Given the description of an element on the screen output the (x, y) to click on. 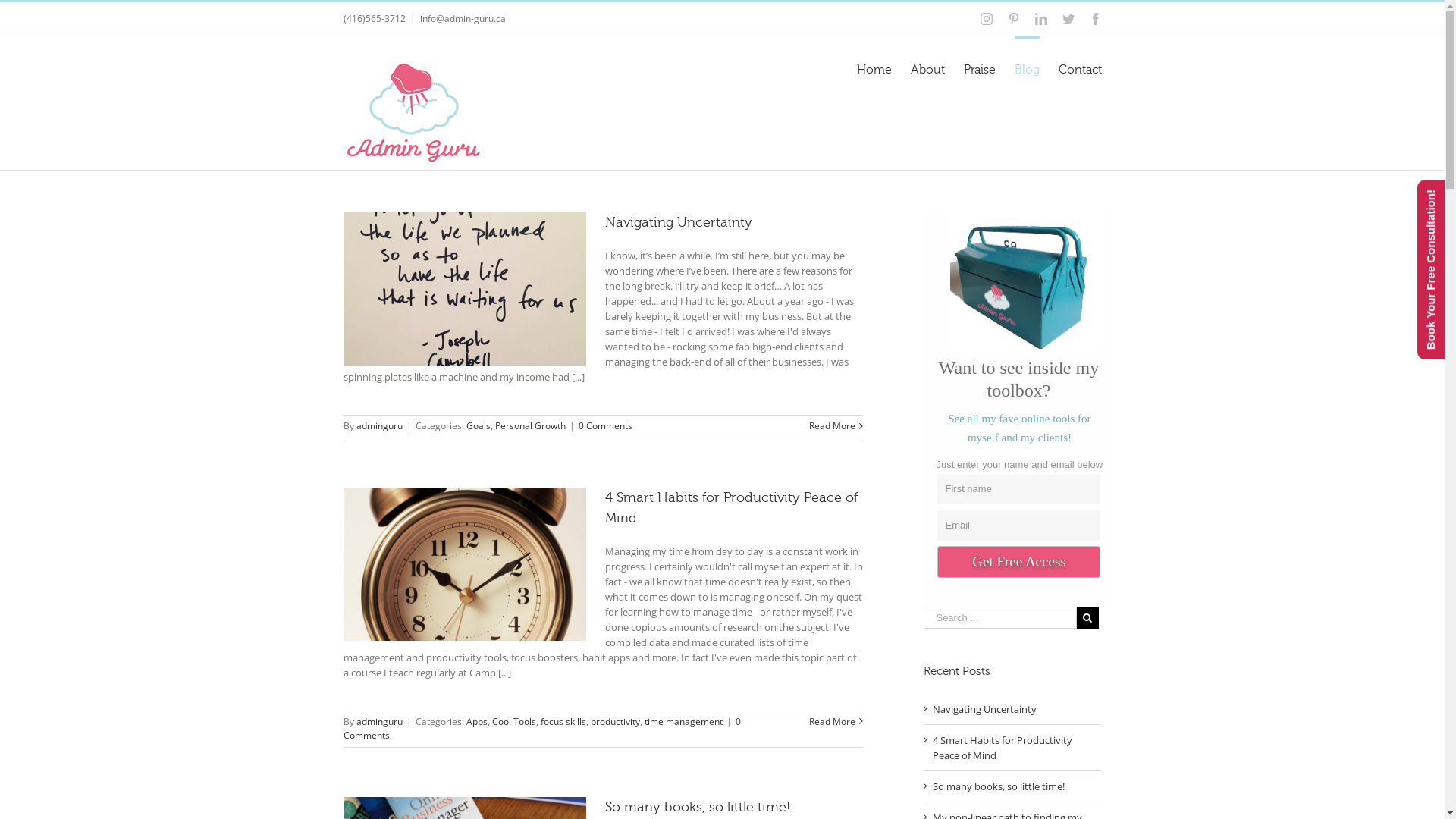
Read More Element type: text (832, 721)
Facebook Element type: text (1094, 18)
Personal Growth Element type: text (529, 425)
Twitter Element type: text (1067, 18)
Pinterest Element type: text (1013, 18)
Blog Element type: text (1026, 68)
time management Element type: text (683, 721)
adminguru Element type: text (379, 425)
info@admin-guru.ca Element type: text (462, 18)
Contact Element type: text (1079, 68)
productivity Element type: text (614, 721)
Praise Element type: text (978, 68)
Read More Element type: text (832, 425)
So many books, so little time! Element type: text (697, 806)
4 Smart Habits for Productivity Peace of Mind Element type: text (1002, 747)
focus skills Element type: text (562, 721)
4 Smart Habits for Productivity Peace of Mind Element type: text (731, 507)
Linkedin Element type: text (1040, 18)
So many books, so little time! Element type: text (998, 786)
Home Element type: text (873, 68)
0 Comments Element type: text (541, 728)
About Element type: text (927, 68)
adminguru Element type: text (379, 721)
Navigating Uncertainty Element type: text (984, 708)
Instagram Element type: text (985, 18)
Cool Tools Element type: text (513, 721)
0 Comments Element type: text (604, 425)
Navigating Uncertainty Element type: text (678, 221)
Get Free Access Element type: text (1018, 561)
Goals Element type: text (477, 425)
Apps Element type: text (475, 721)
